Given the description of an element on the screen output the (x, y) to click on. 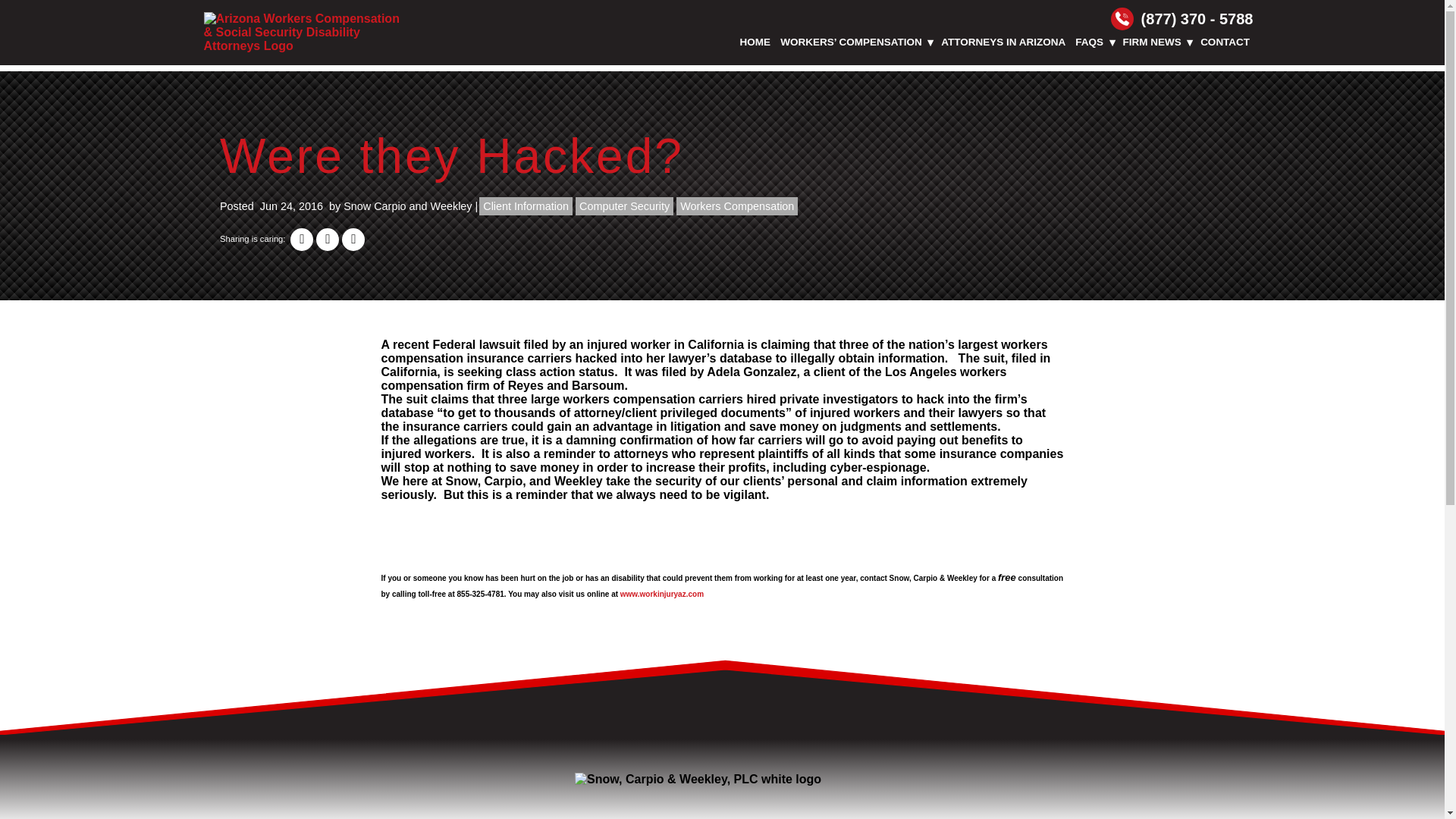
CONTACT (1225, 42)
www.workinjuryaz.com (661, 593)
ATTORNEYS IN ARIZONA (1003, 42)
FAQS (1089, 42)
Computer Security (623, 206)
FIRM NEWS (1151, 42)
Share on Facebook (301, 239)
Client Information (525, 206)
Workers Compensation (737, 206)
Share on Twitter (327, 239)
Share on LinkedIn (353, 239)
HOME (754, 42)
